Given the description of an element on the screen output the (x, y) to click on. 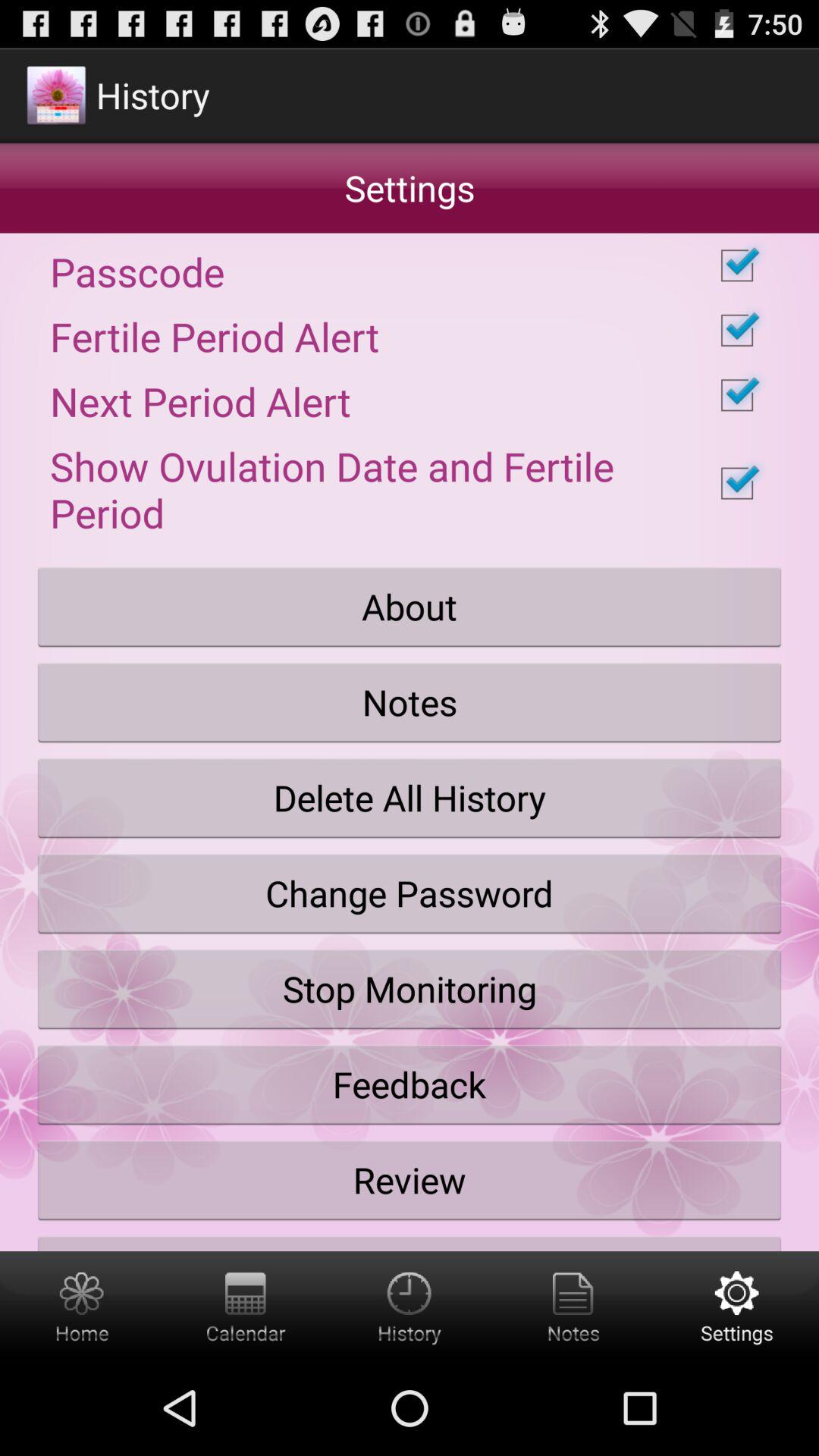
turn off the checkbox above fertile period alert icon (409, 265)
